Given the description of an element on the screen output the (x, y) to click on. 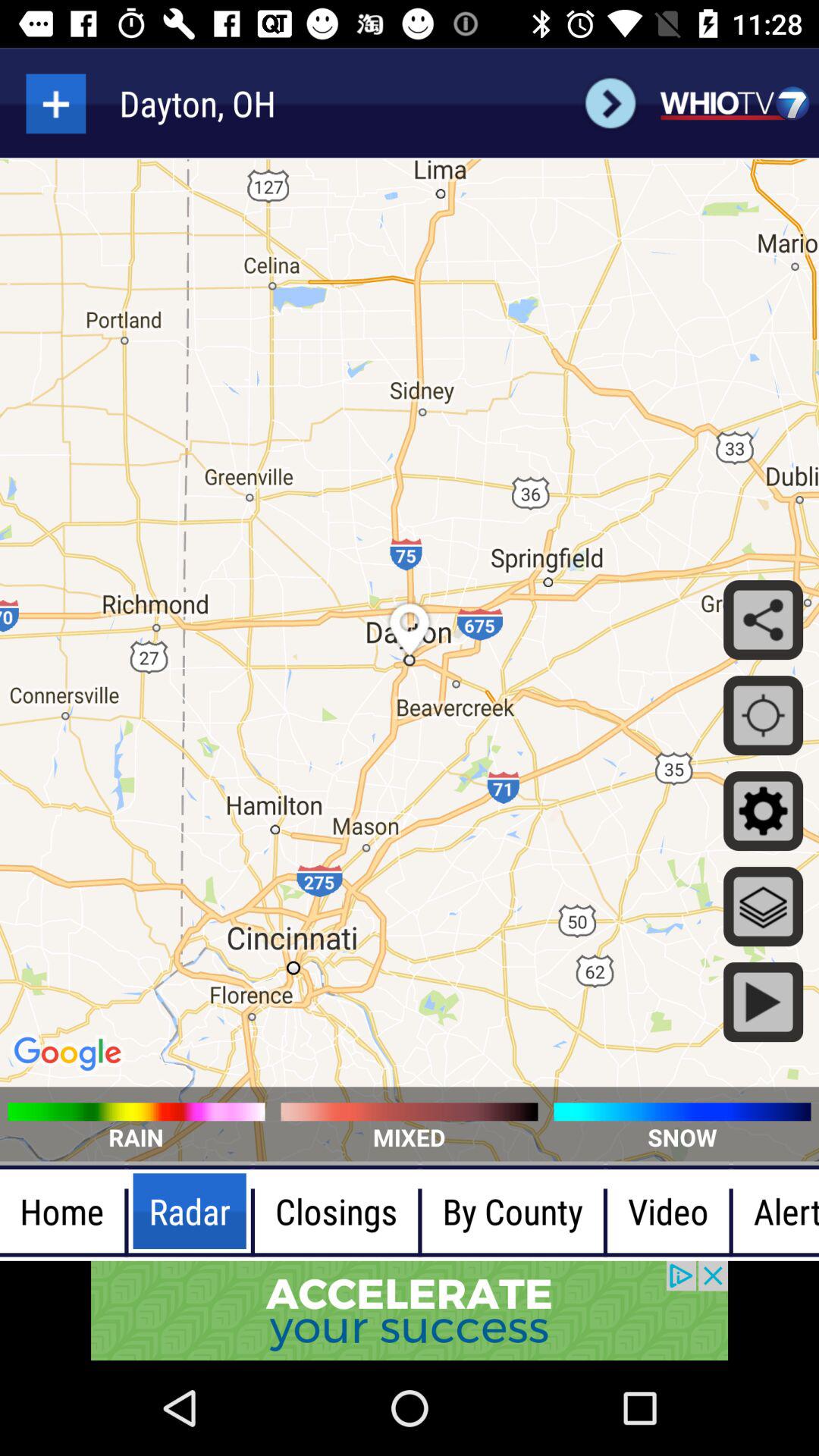
go to incerase (55, 103)
